Given the description of an element on the screen output the (x, y) to click on. 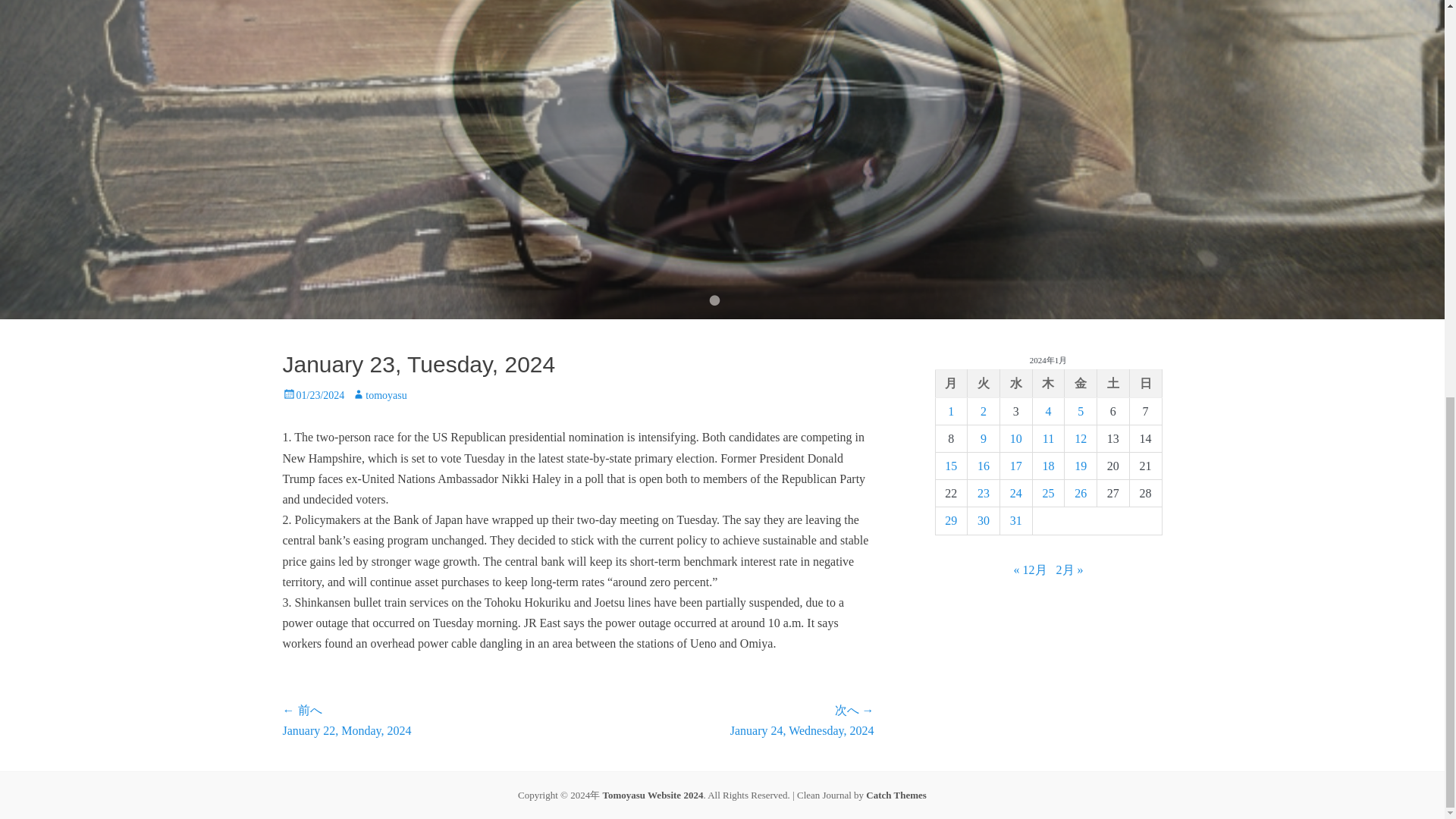
2 (983, 410)
4 (1048, 410)
24 (1016, 492)
9 (983, 438)
17 (1016, 465)
29 (950, 520)
16 (983, 465)
11 (1048, 438)
5 (1080, 410)
26 (1080, 492)
12 (1080, 438)
1 (950, 410)
18 (1048, 465)
10 (1016, 438)
19 (1080, 465)
